Given the description of an element on the screen output the (x, y) to click on. 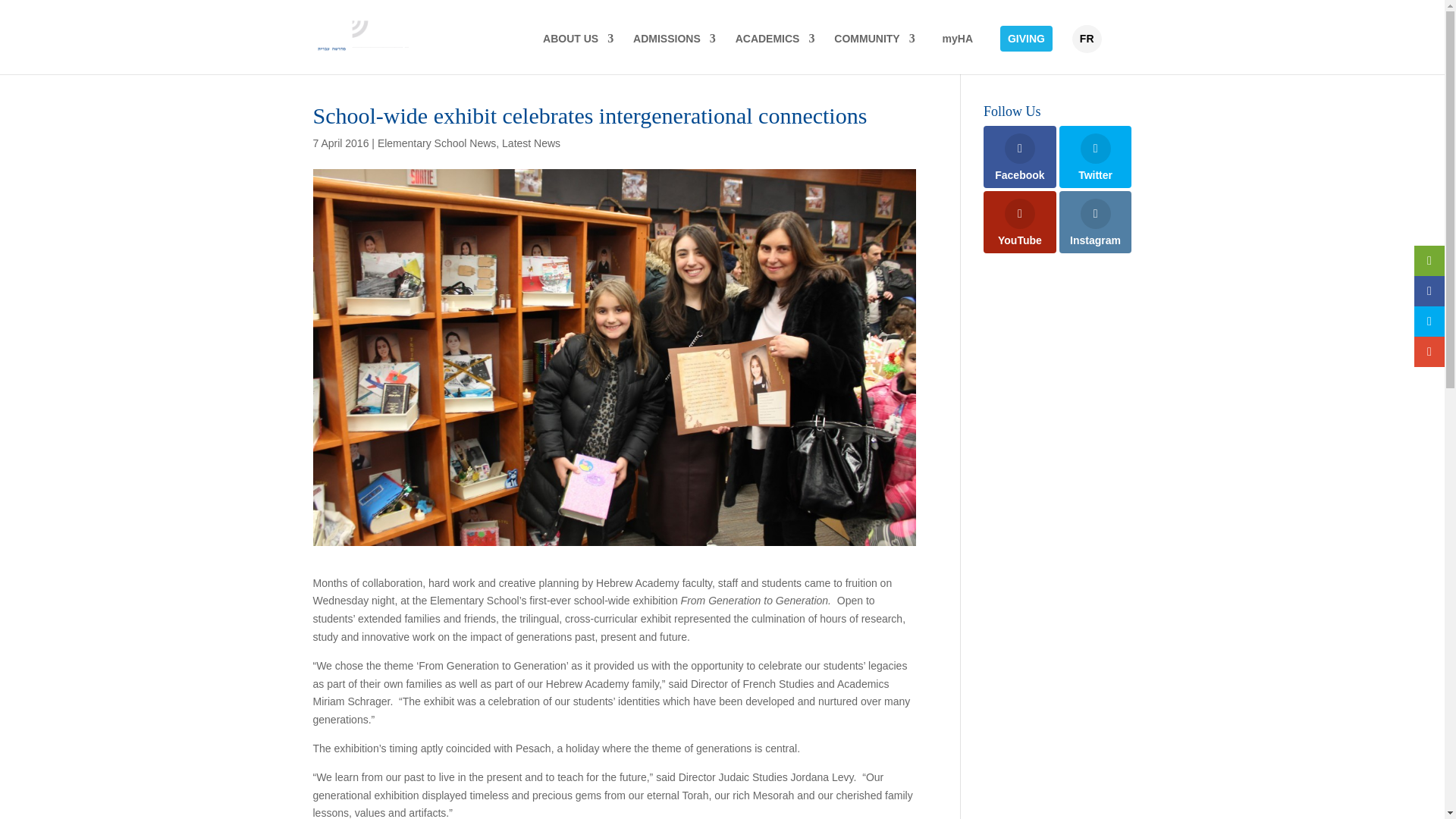
ABOUT US (577, 50)
ADMISSIONS (674, 50)
ACADEMICS (775, 50)
FR (1086, 39)
